Given the description of an element on the screen output the (x, y) to click on. 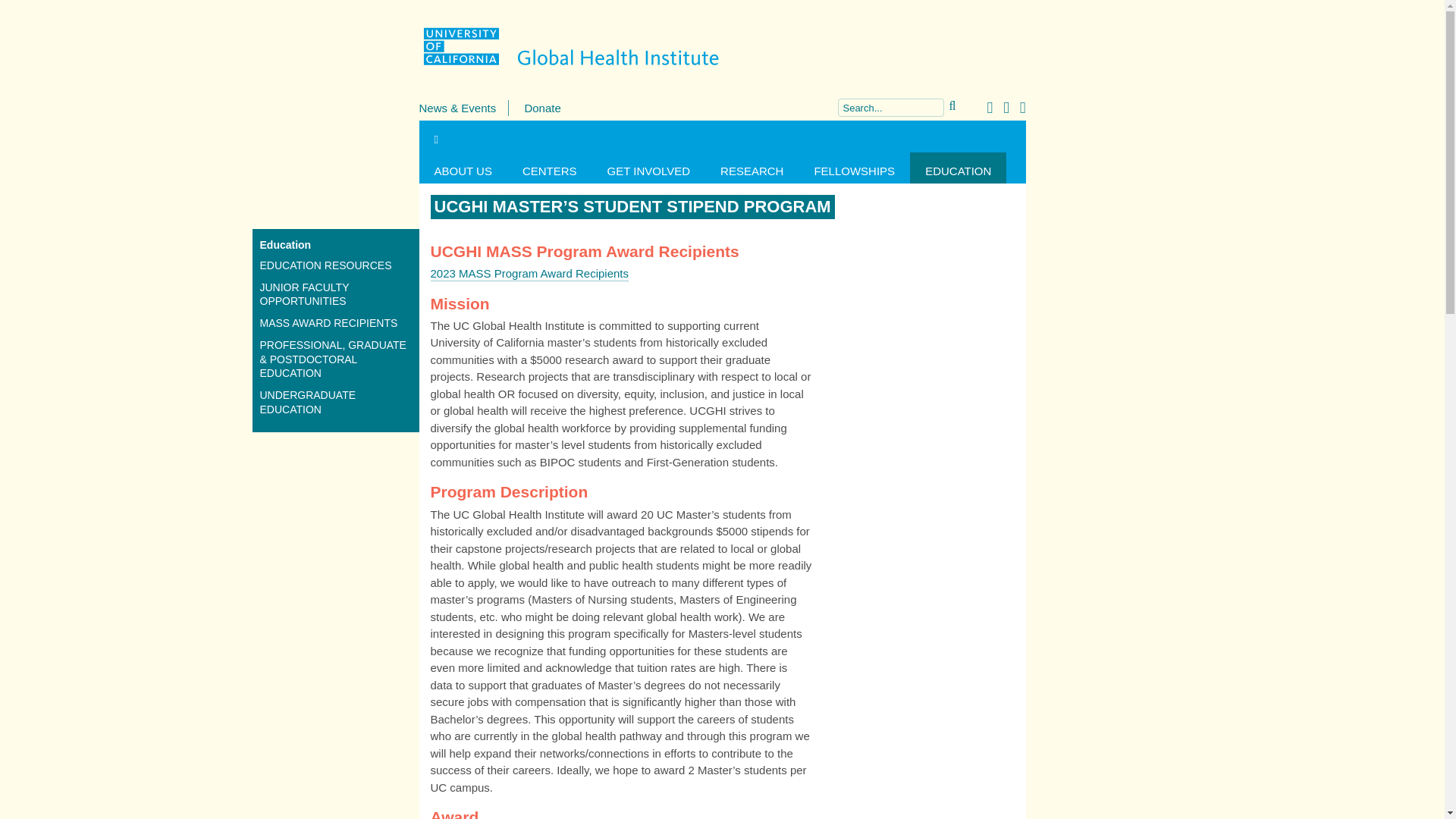
RESEARCH (750, 167)
HOME (435, 135)
Search (20, 6)
Donate (542, 107)
Home (722, 45)
ABOUT US (462, 167)
Skip to main content (34, 0)
Twitter (1000, 107)
EDUCATION (958, 167)
Enter the terms you wish to search for. (890, 107)
